Given the description of an element on the screen output the (x, y) to click on. 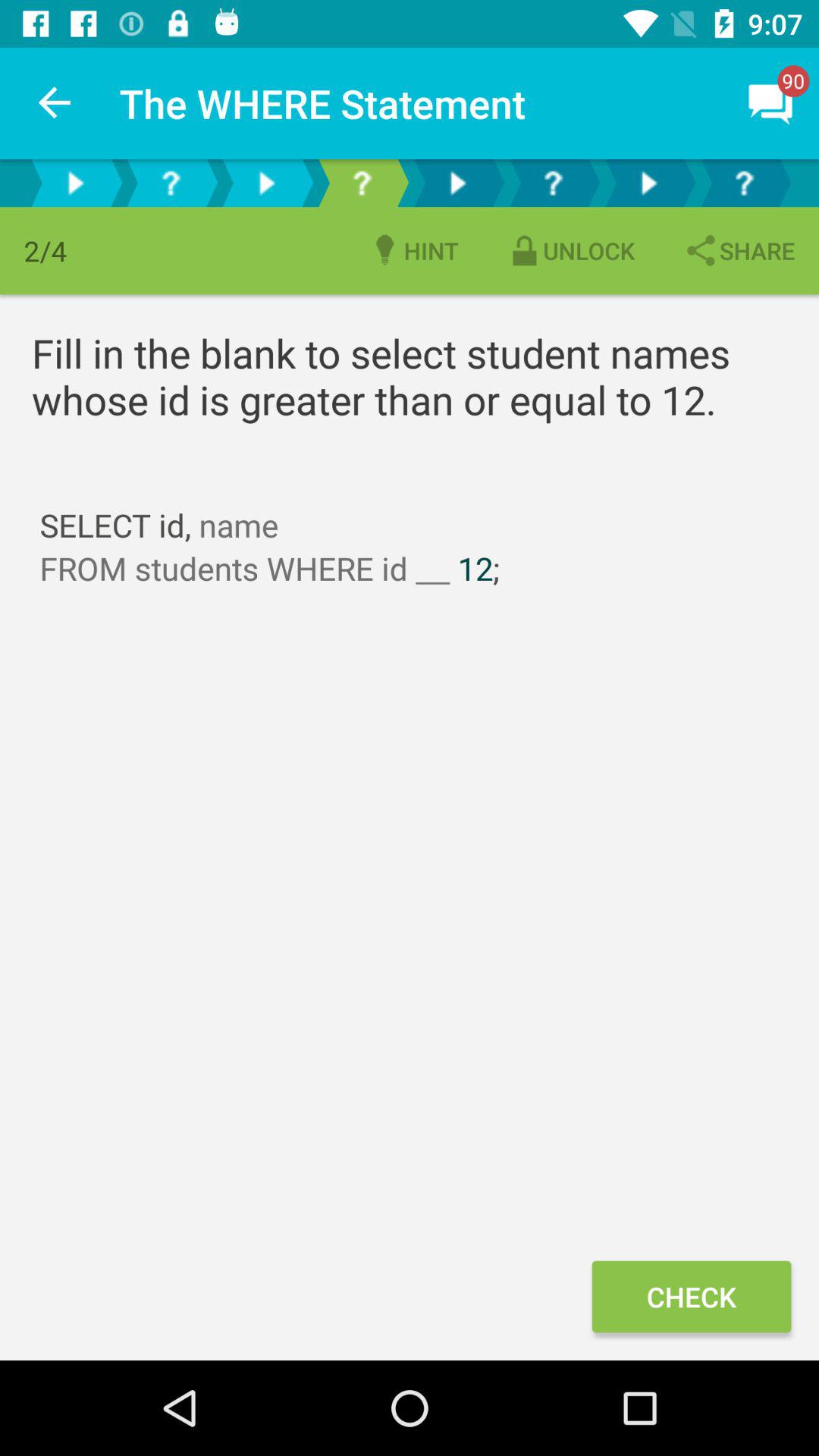
click to questions option (361, 183)
